Given the description of an element on the screen output the (x, y) to click on. 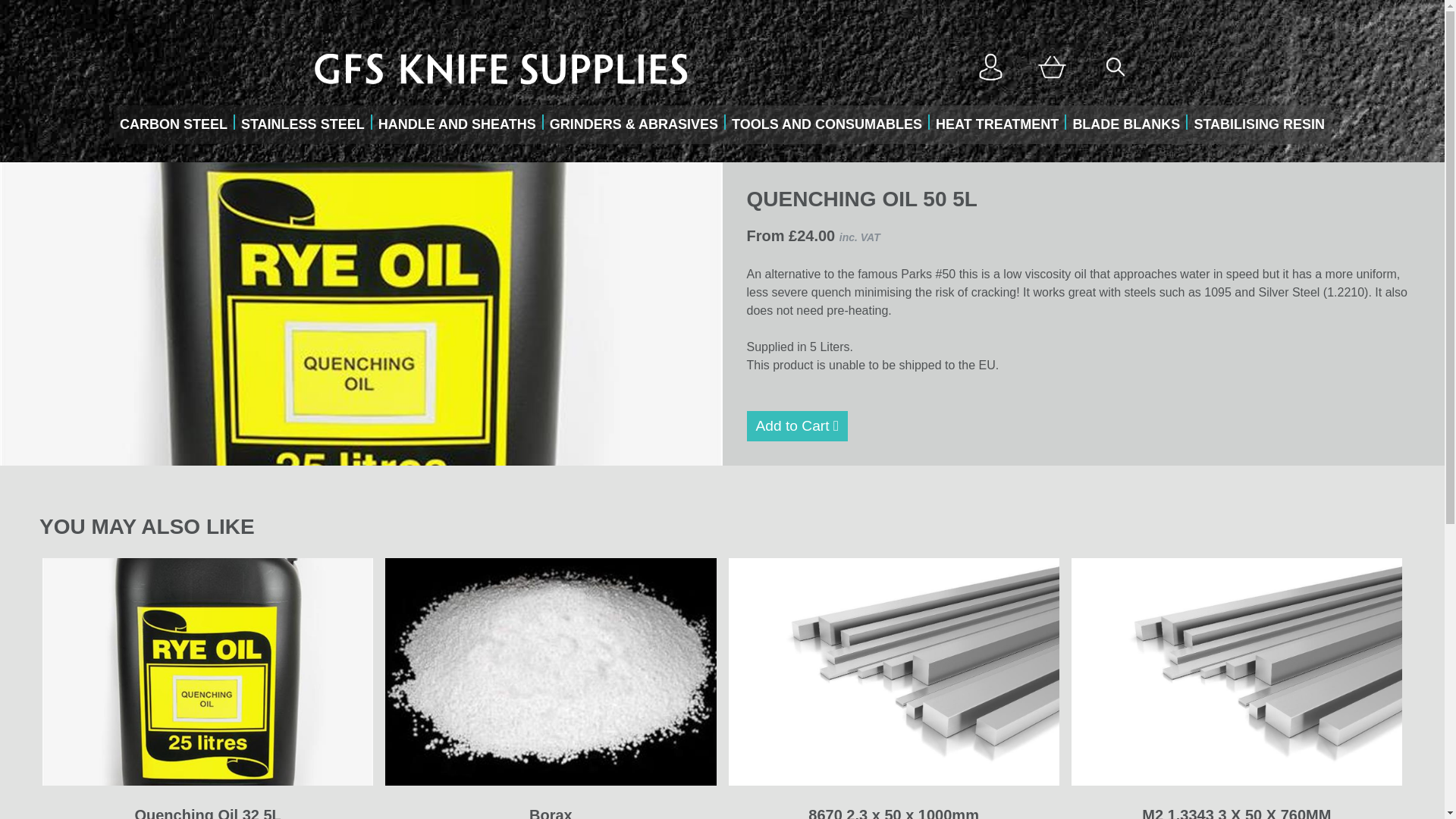
Quenching Oil 32 5L (207, 812)
CARBON STEEL (172, 124)
Add to Cart (796, 426)
STAINLESS STEEL (302, 124)
STABILISING RESIN (1259, 124)
Borax (550, 812)
BLADE BLANKS (1125, 124)
HEAT TREATMENT (997, 124)
TOOLS AND CONSUMABLES (826, 124)
HANDLE AND SHEATHS (456, 124)
